Given the description of an element on the screen output the (x, y) to click on. 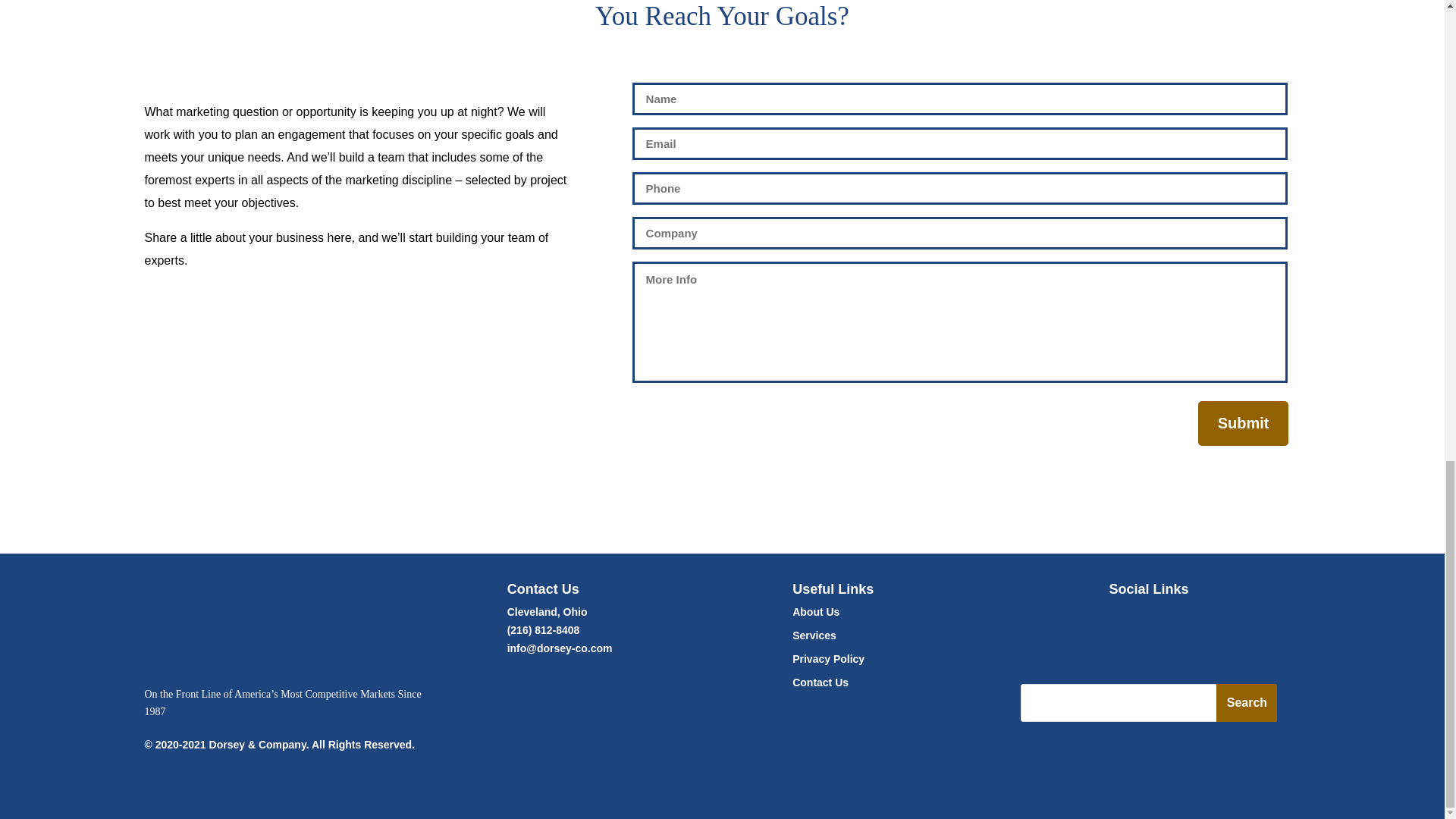
Search (1245, 702)
Contact Us (820, 682)
logo-white (266, 625)
Privacy Policy (828, 658)
About Us (816, 612)
Submit (1243, 423)
Submit (1243, 423)
Services (813, 635)
Search (1245, 702)
